Given the description of an element on the screen output the (x, y) to click on. 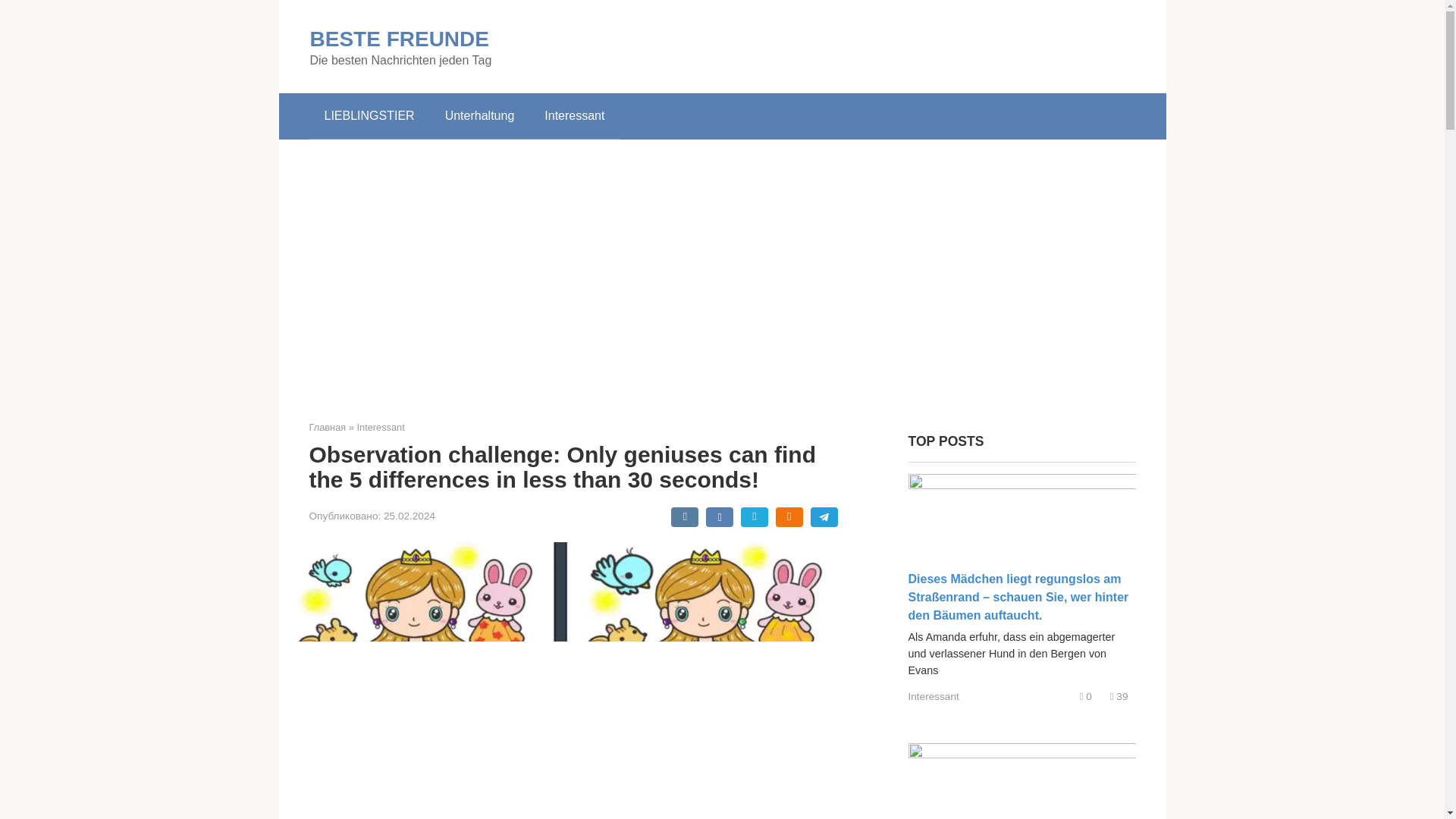
Interessant (574, 115)
Unterhaltung (479, 115)
Interessant (380, 427)
BESTE FREUNDE (397, 38)
LIEBLINGSTIER (368, 115)
Interessant (933, 696)
